Given the description of an element on the screen output the (x, y) to click on. 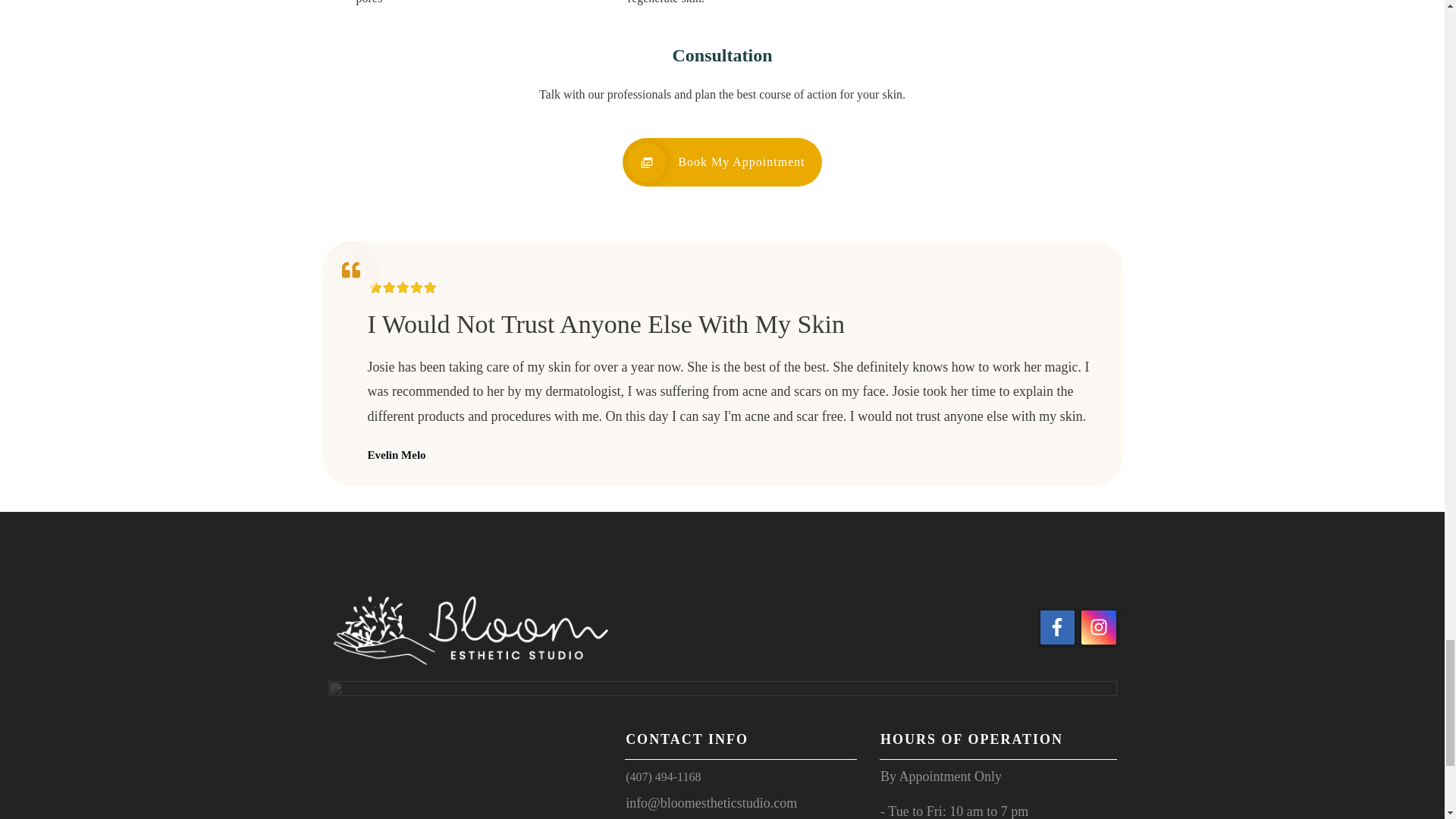
Logo-Stripe-White (721, 690)
Book My Appointment (722, 162)
Google Map (465, 775)
